Given the description of an element on the screen output the (x, y) to click on. 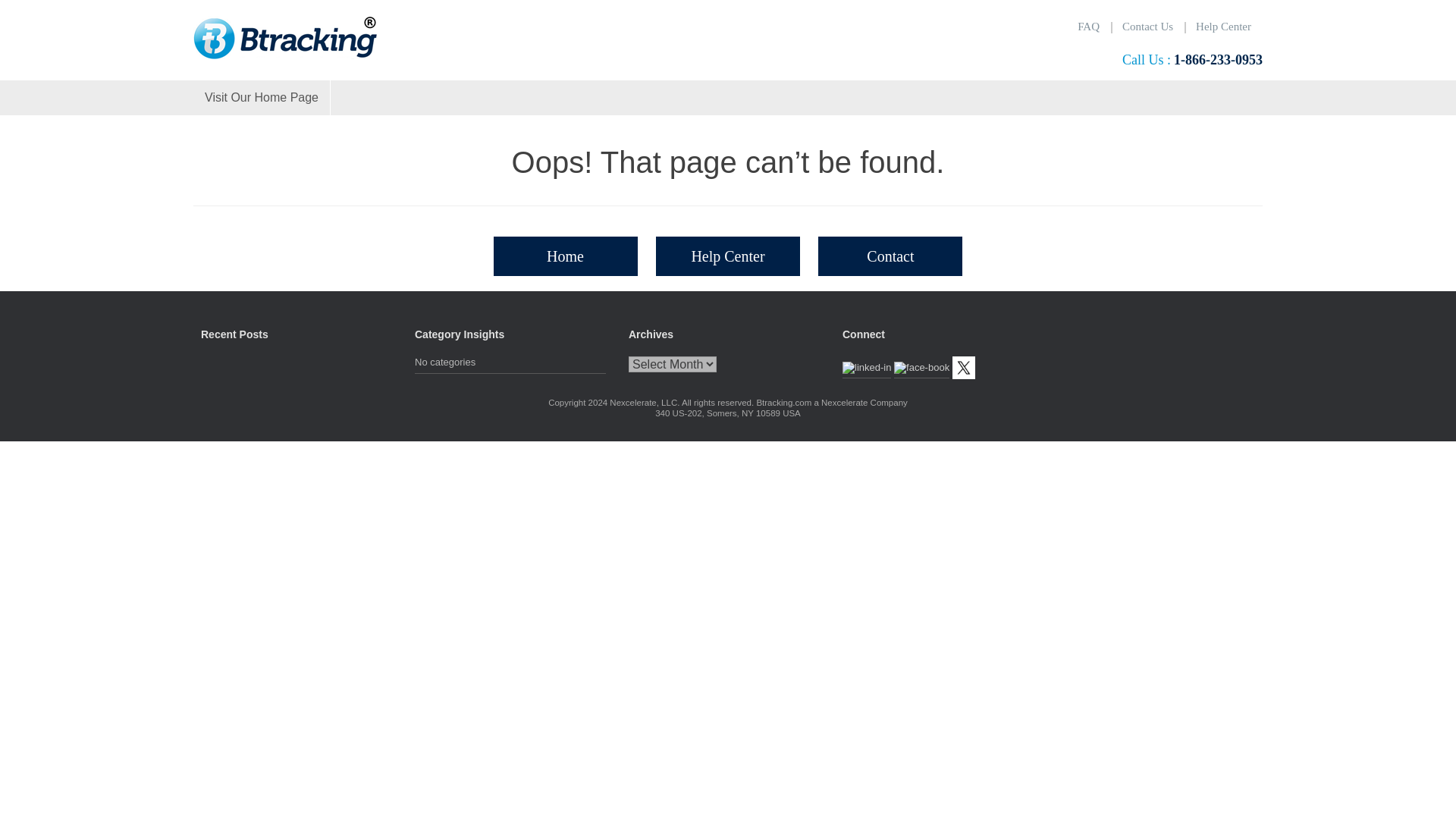
Help Center (1223, 26)
FAQ (1087, 26)
1-866-233-0953 (1217, 60)
Home (565, 256)
Contact (890, 256)
Contact Us (1147, 26)
Help Center (727, 256)
Visit Our Home Page (261, 97)
